Given the description of an element on the screen output the (x, y) to click on. 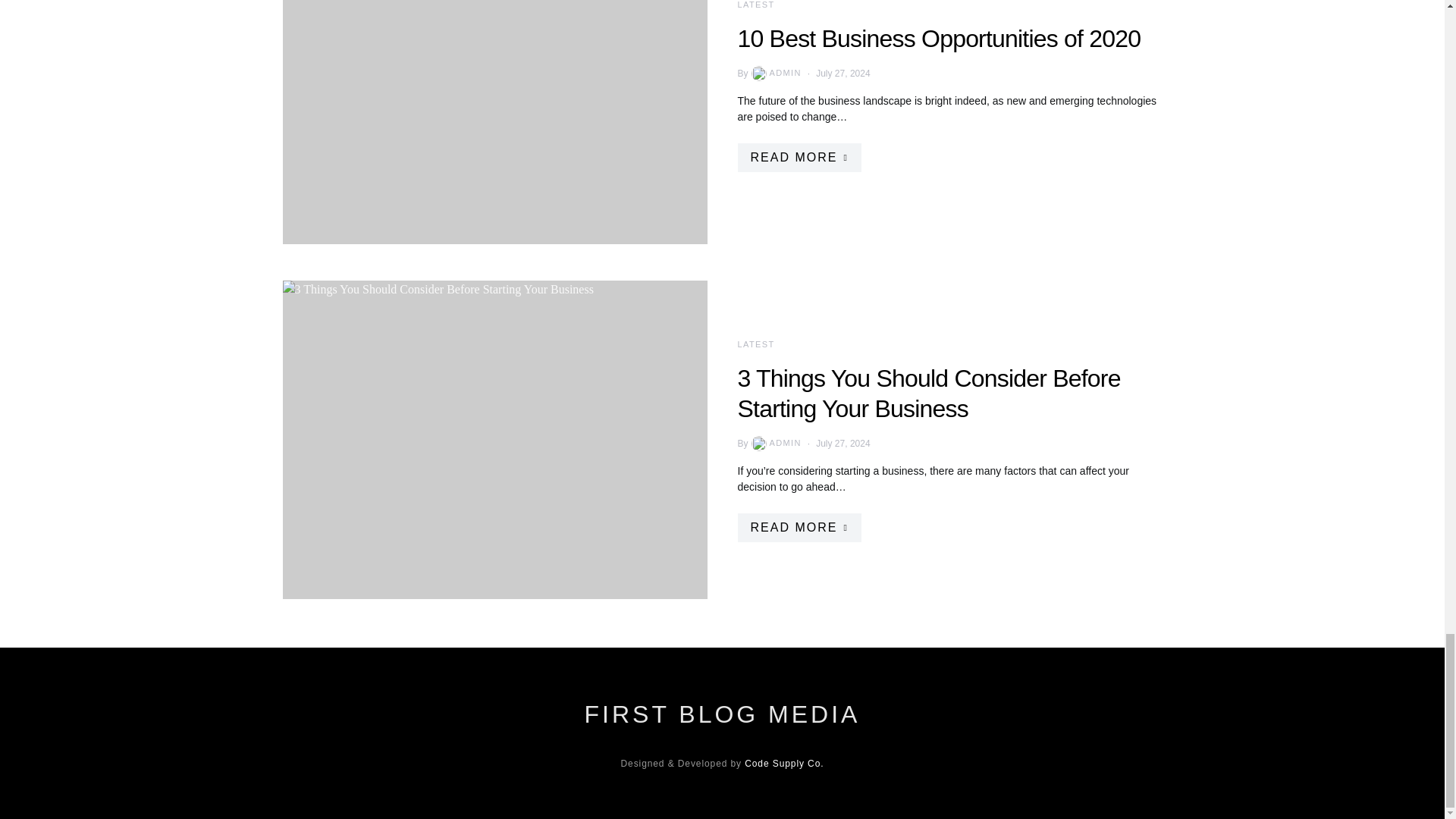
View all posts by admin (775, 73)
View all posts by admin (775, 443)
10 Best Business Opportunities of 2020 (494, 121)
